Given the description of an element on the screen output the (x, y) to click on. 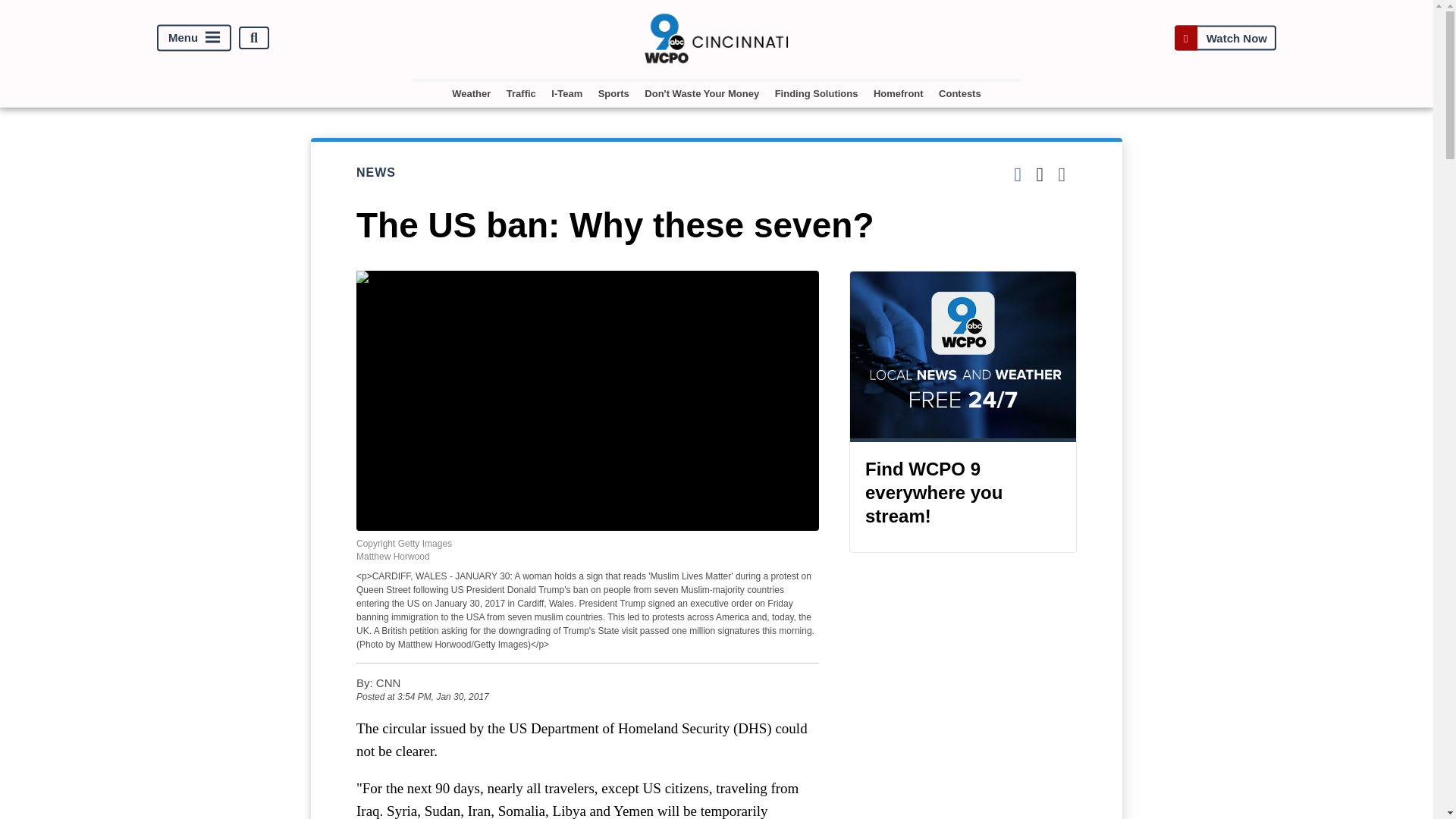
Watch Now (1224, 38)
Menu (194, 38)
